Given the description of an element on the screen output the (x, y) to click on. 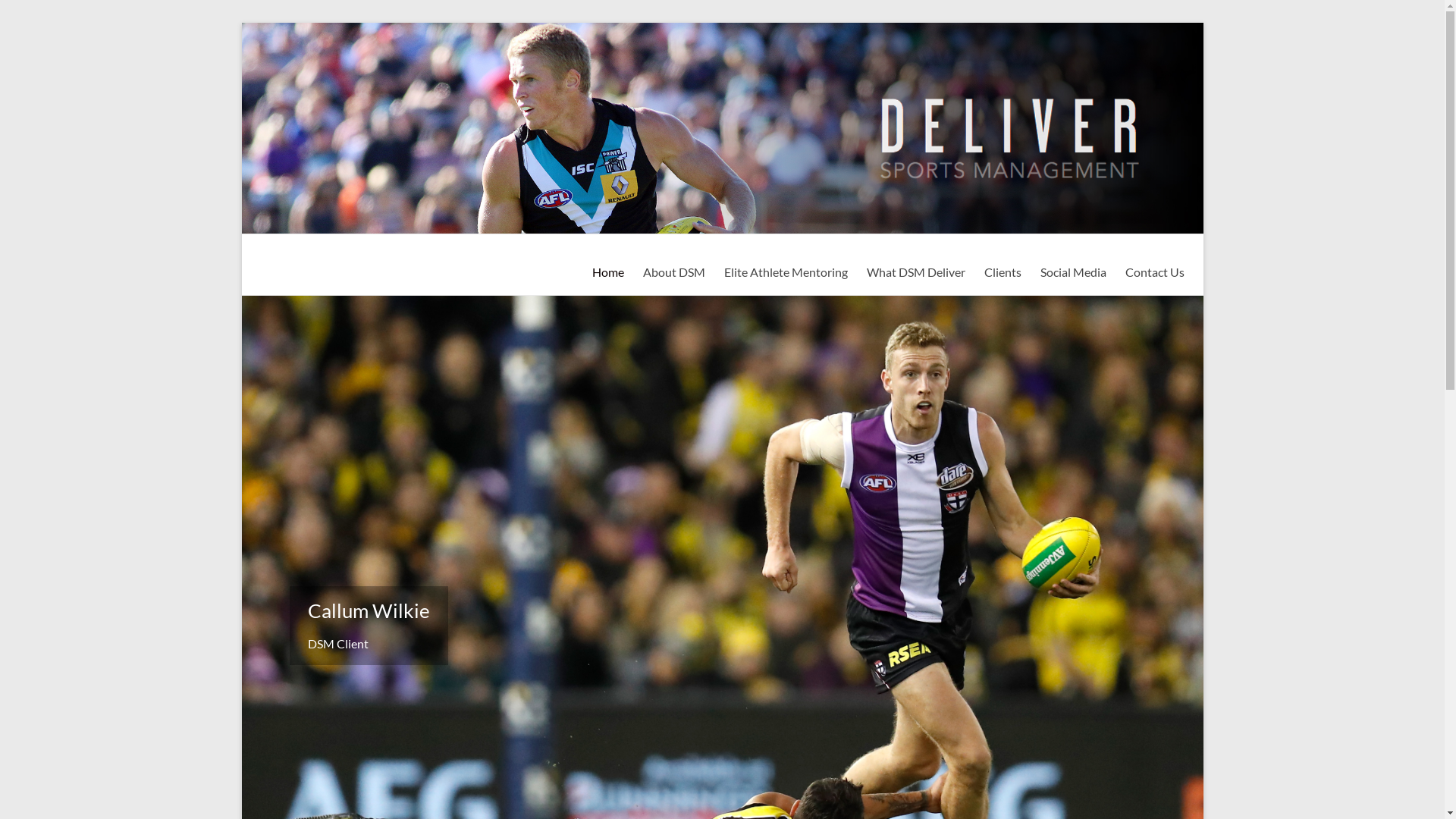
About DSM Element type: text (674, 271)
Clients Element type: text (1002, 271)
Social Media Element type: text (1073, 271)
Callum Wilkie Element type: text (368, 610)
What DSM Deliver Element type: text (915, 271)
Home Element type: text (607, 271)
Elite Athlete Mentoring Element type: text (785, 271)
Contact Us Element type: text (1154, 271)
